Given the description of an element on the screen output the (x, y) to click on. 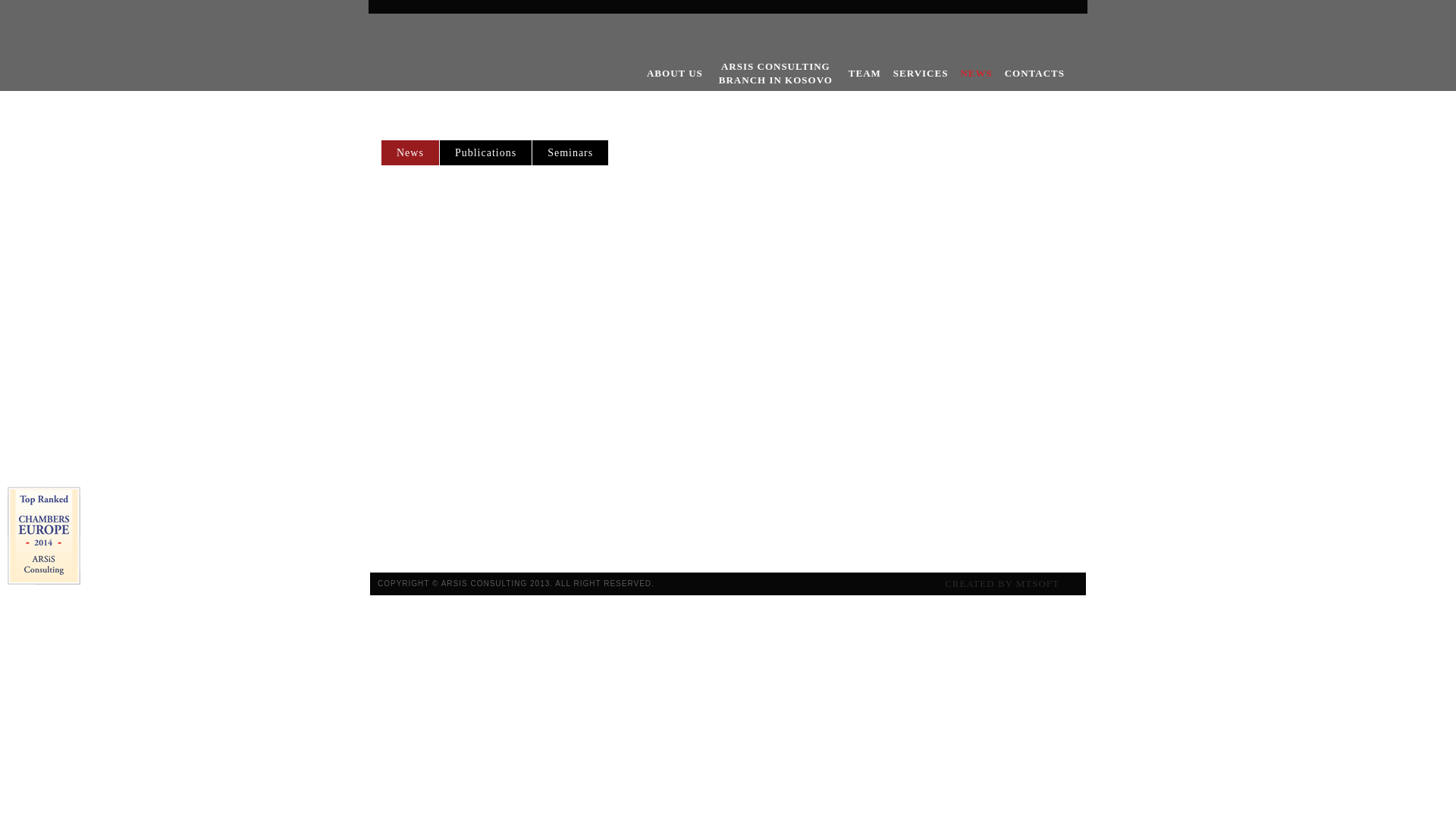
TEAM Element type: text (685, 537)
CONTACTS Element type: text (1039, 73)
Seminars Element type: text (585, 152)
ARSIS CONSULTING BRANCH IN KOSOVO Element type: text (773, 75)
NEWS Element type: text (825, 537)
TEAM Element type: text (868, 73)
CONTACTS Element type: text (898, 537)
HOME Element type: text (543, 537)
NEWS Element type: text (980, 73)
ABOUT US Element type: text (615, 537)
ARSIS Consulting Element type: text (442, 58)
CREATED BY MTSOFT Element type: text (998, 583)
ABOUT US Element type: text (679, 73)
SERVICES Element type: text (925, 73)
News Element type: text (425, 152)
Publications Element type: text (500, 152)
SERVICES Element type: text (755, 537)
